Given the description of an element on the screen output the (x, y) to click on. 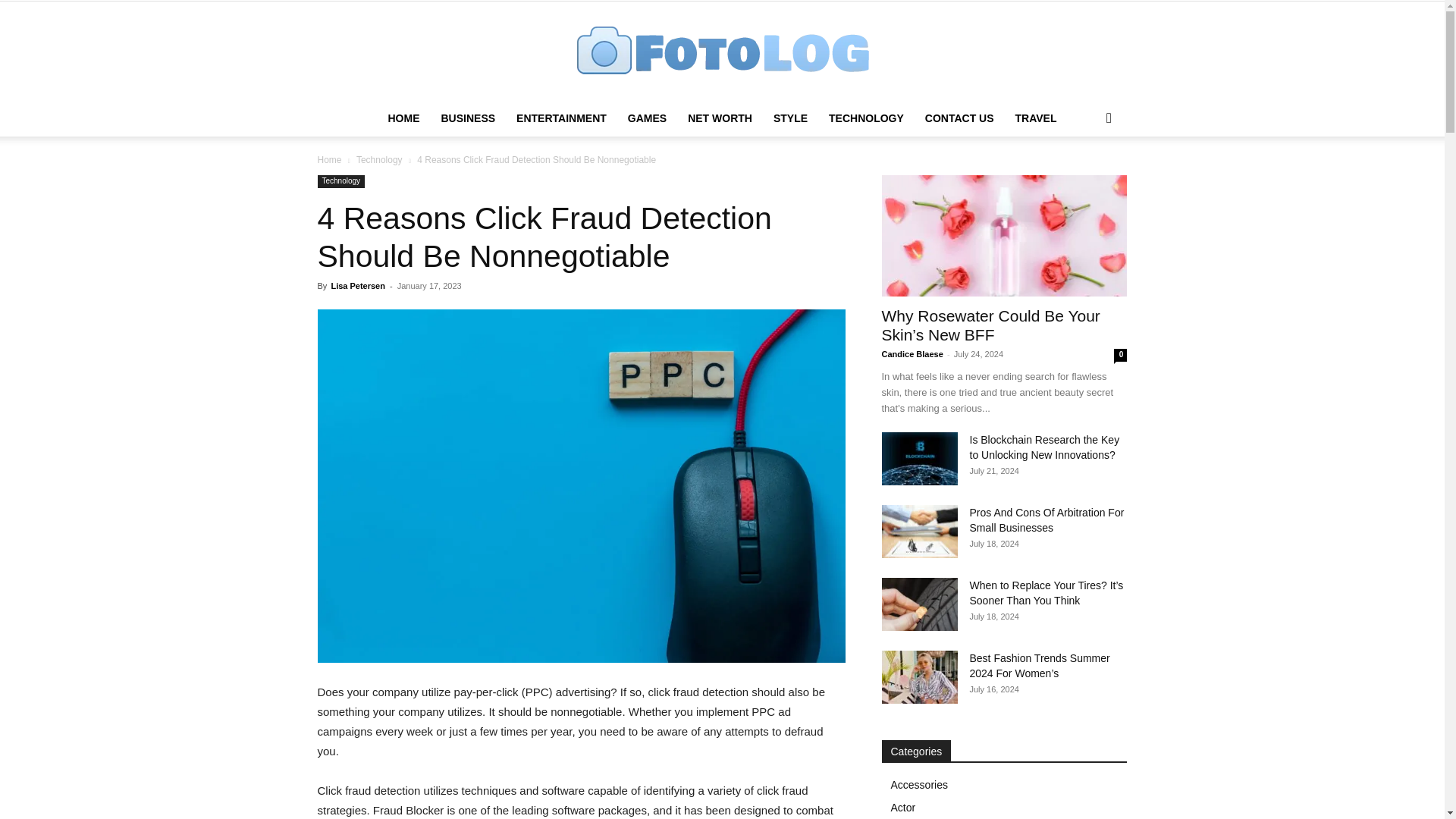
CONTACT US (959, 117)
BUSINESS (467, 117)
Technology (379, 159)
View all posts in Technology (379, 159)
HOME (403, 117)
Lisa Petersen (357, 285)
Home (328, 159)
STYLE (790, 117)
NET WORTH (719, 117)
Technology (341, 181)
GAMES (647, 117)
TRAVEL (1035, 117)
TECHNOLOGY (866, 117)
ENTERTAINMENT (561, 117)
